Given the description of an element on the screen output the (x, y) to click on. 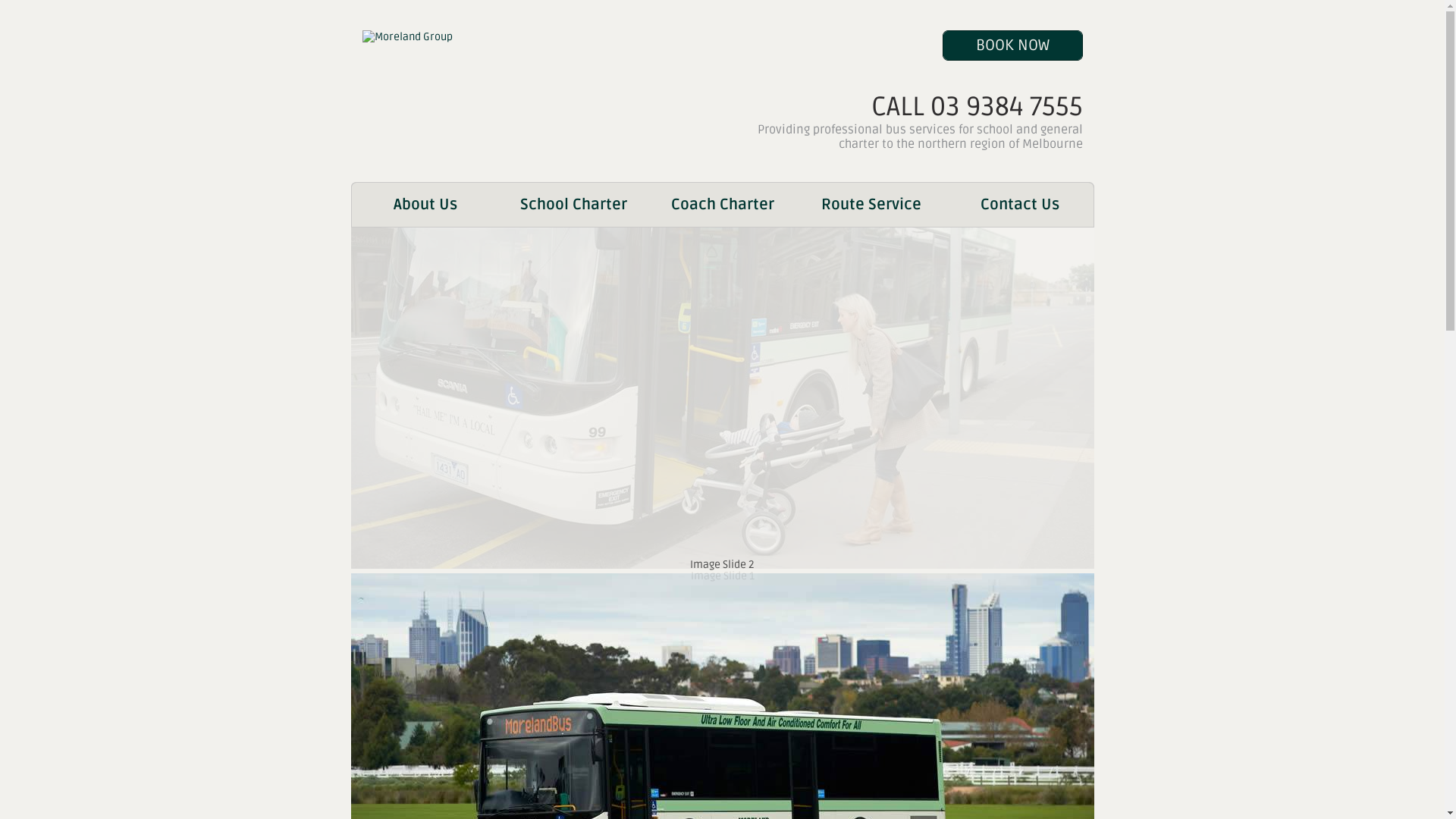
Contact Us Element type: text (1018, 204)
Home Element type: hover (407, 36)
About Us Element type: text (424, 204)
Coach Charter Element type: text (721, 204)
Route Service Element type: text (870, 204)
BOOK NOW Element type: text (1011, 45)
School Charter Element type: text (572, 204)
